Given the description of an element on the screen output the (x, y) to click on. 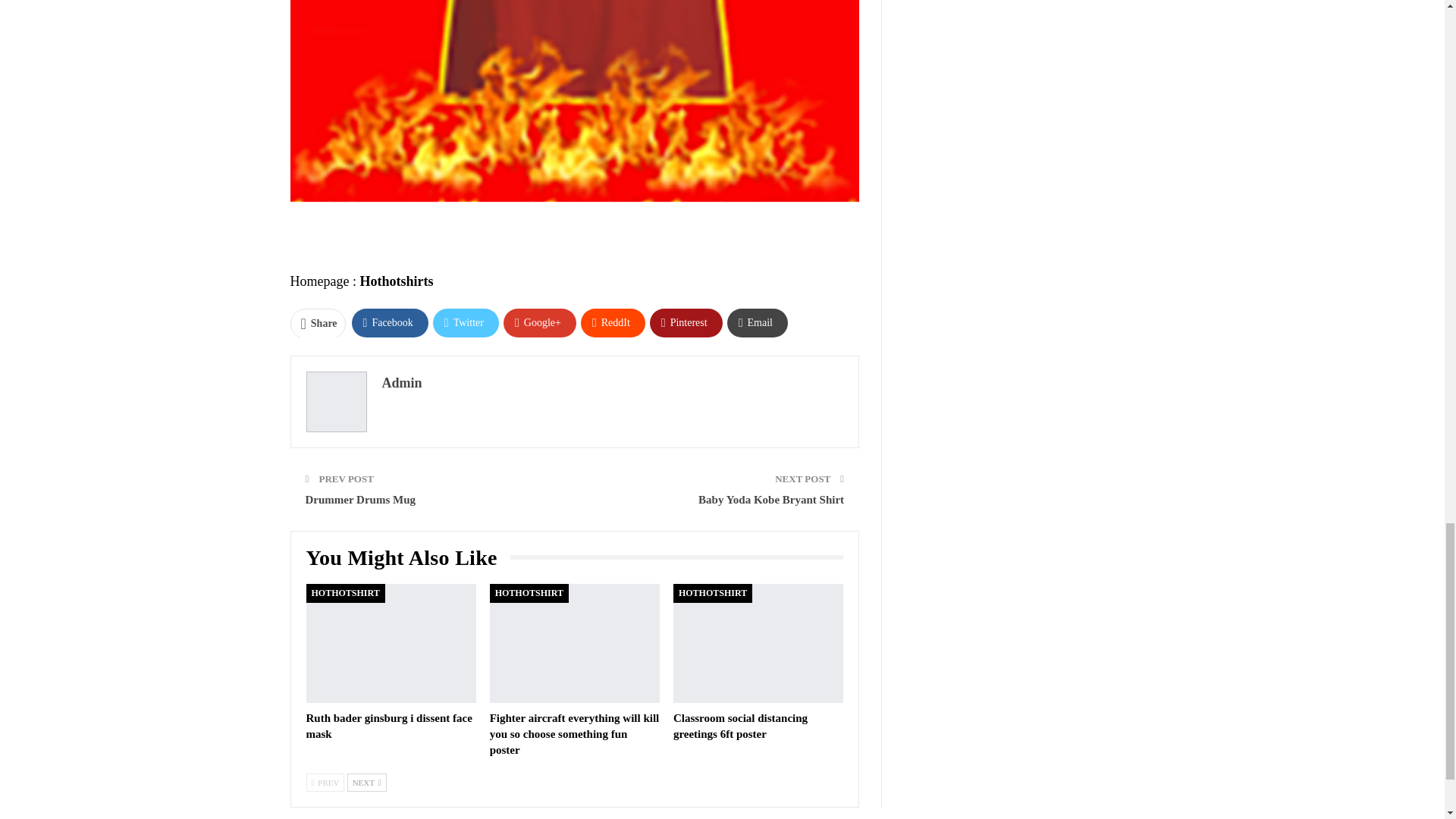
Facebook (390, 321)
Ruth bader ginsburg i dissent face mask (390, 642)
Baby Yoda Kobe Bryant Shirt (771, 499)
Ruth bader ginsburg i dissent face mask (388, 725)
Hothotshirts (395, 280)
Ruth bader ginsburg i dissent face mask (388, 725)
Classroom social distancing greetings 6ft poster (757, 642)
ReddIt (612, 321)
Previous (325, 782)
